Given the description of an element on the screen output the (x, y) to click on. 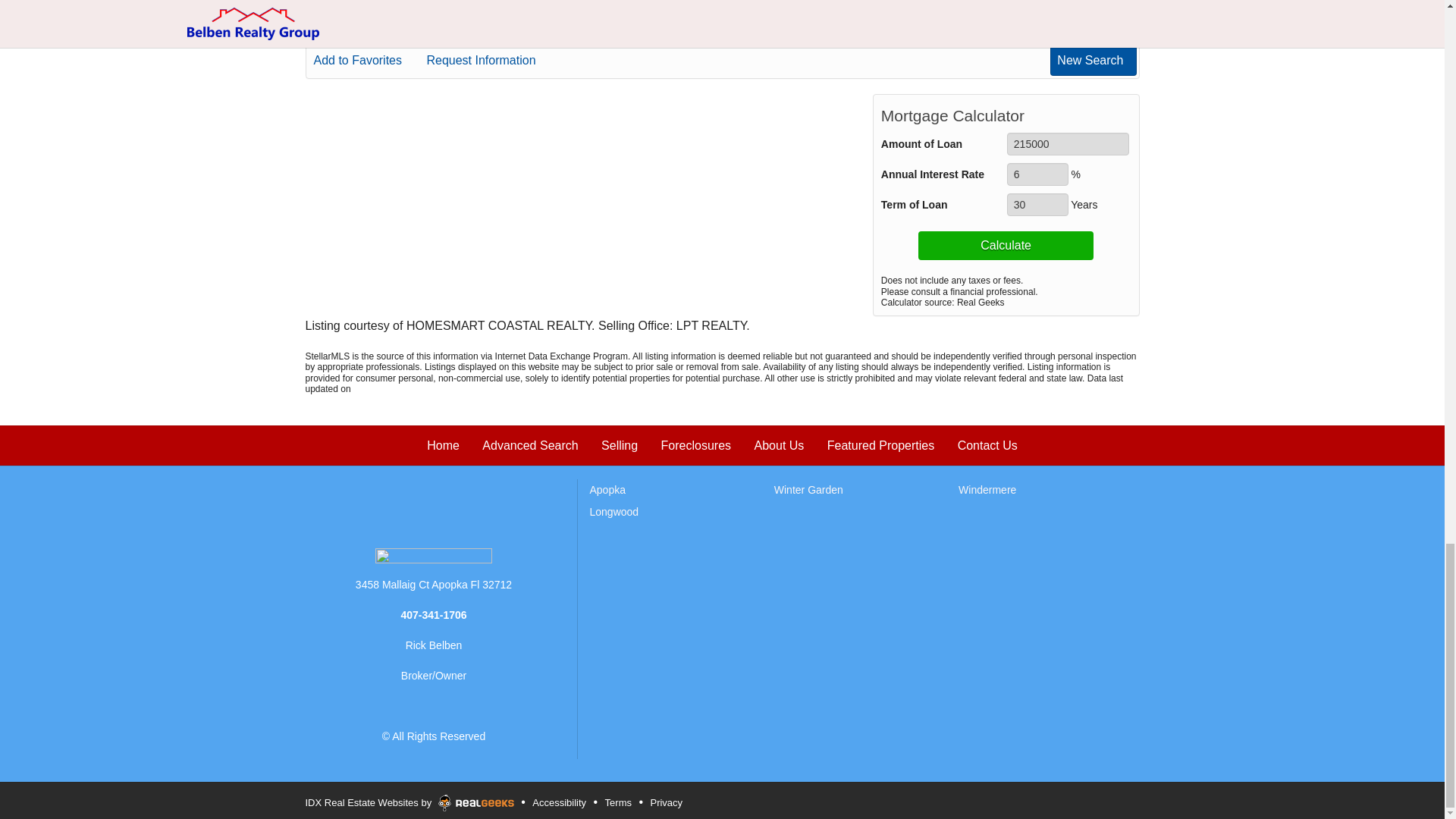
30 (1037, 204)
6 (1037, 173)
215000 (1068, 143)
